Given the description of an element on the screen output the (x, y) to click on. 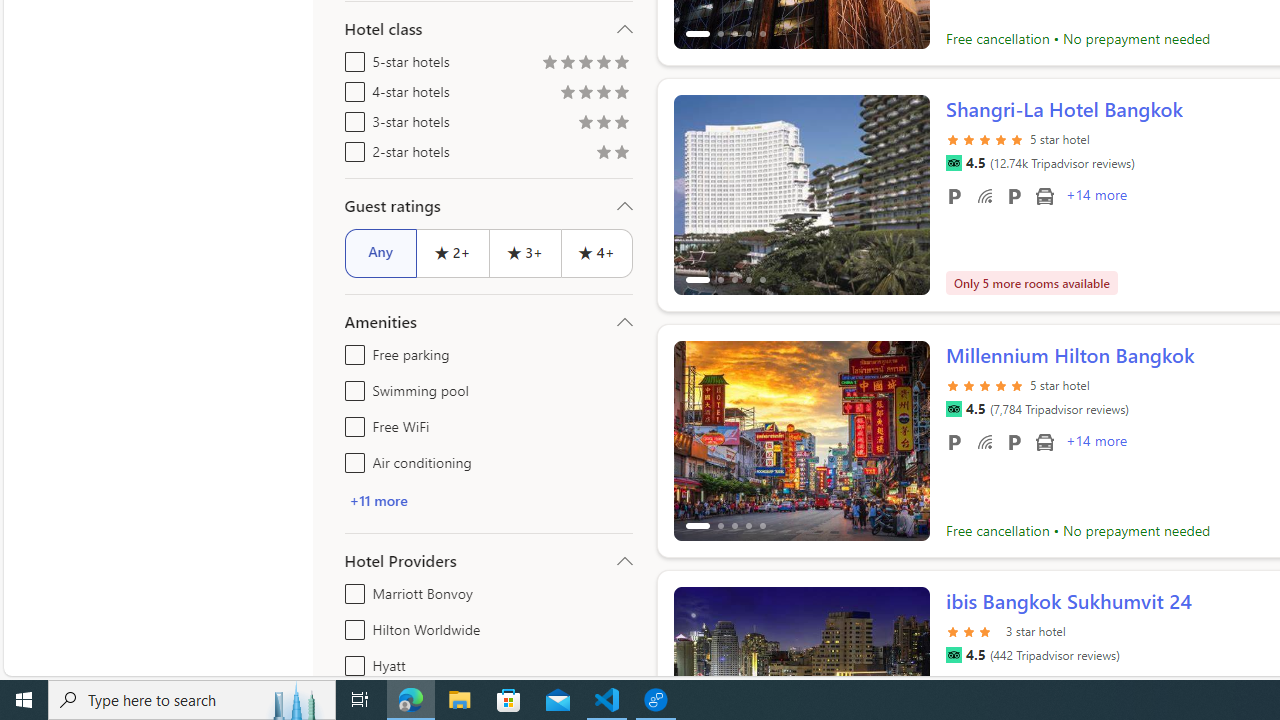
5-star hotels (351, 57)
Guest ratings (488, 205)
Marriott Bonvoy (351, 589)
2+ (452, 252)
Hotel class (488, 29)
4+ (596, 252)
Hotel Providers (488, 560)
3+ (523, 252)
Swimming pool (351, 386)
+11 more (488, 500)
Free parking (351, 350)
Amenities (488, 321)
Airport transportation (1044, 441)
Free parking (953, 441)
3-star hotels (351, 118)
